Given the description of an element on the screen output the (x, y) to click on. 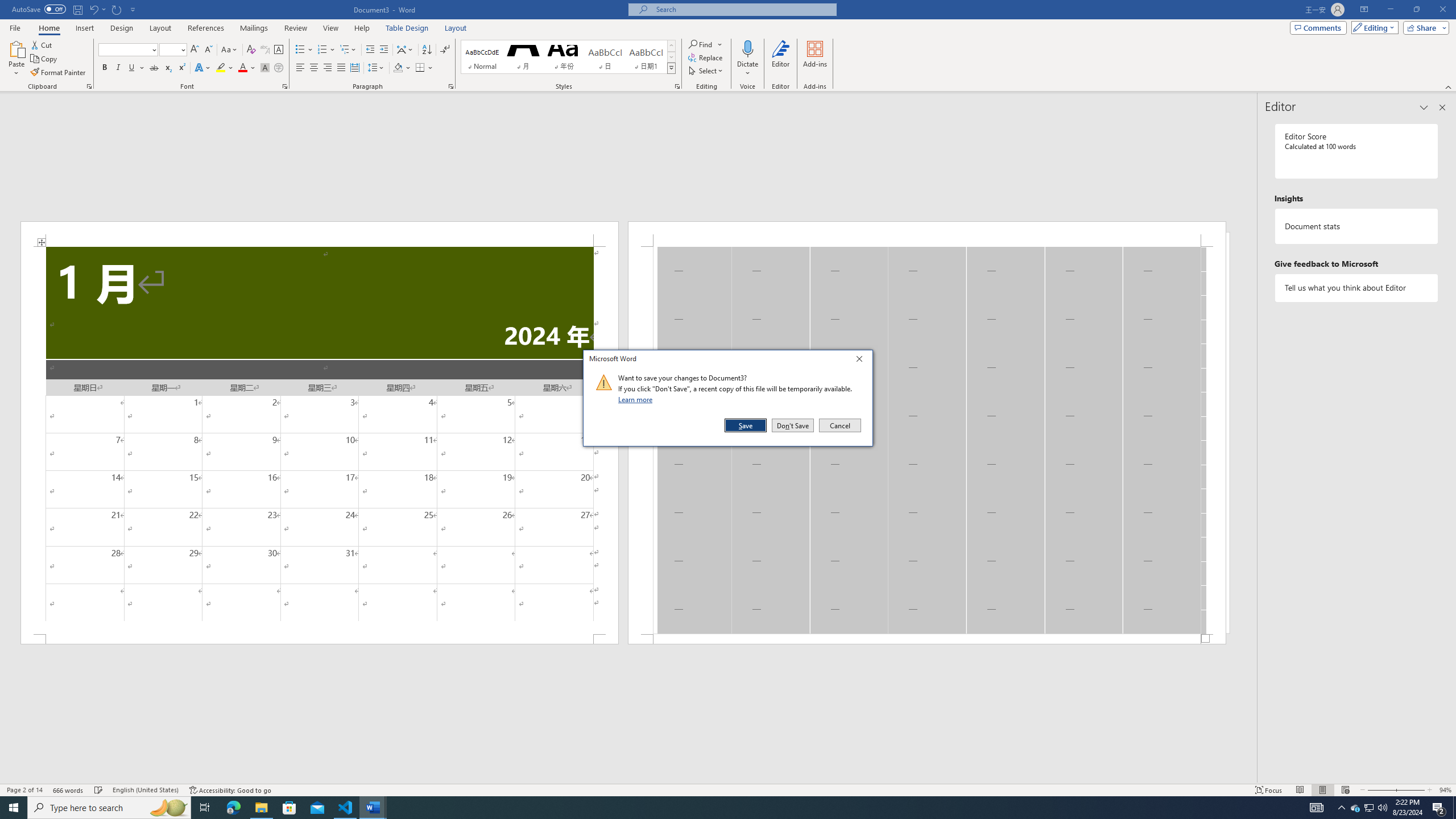
Shrink Font (208, 49)
